Given the description of an element on the screen output the (x, y) to click on. 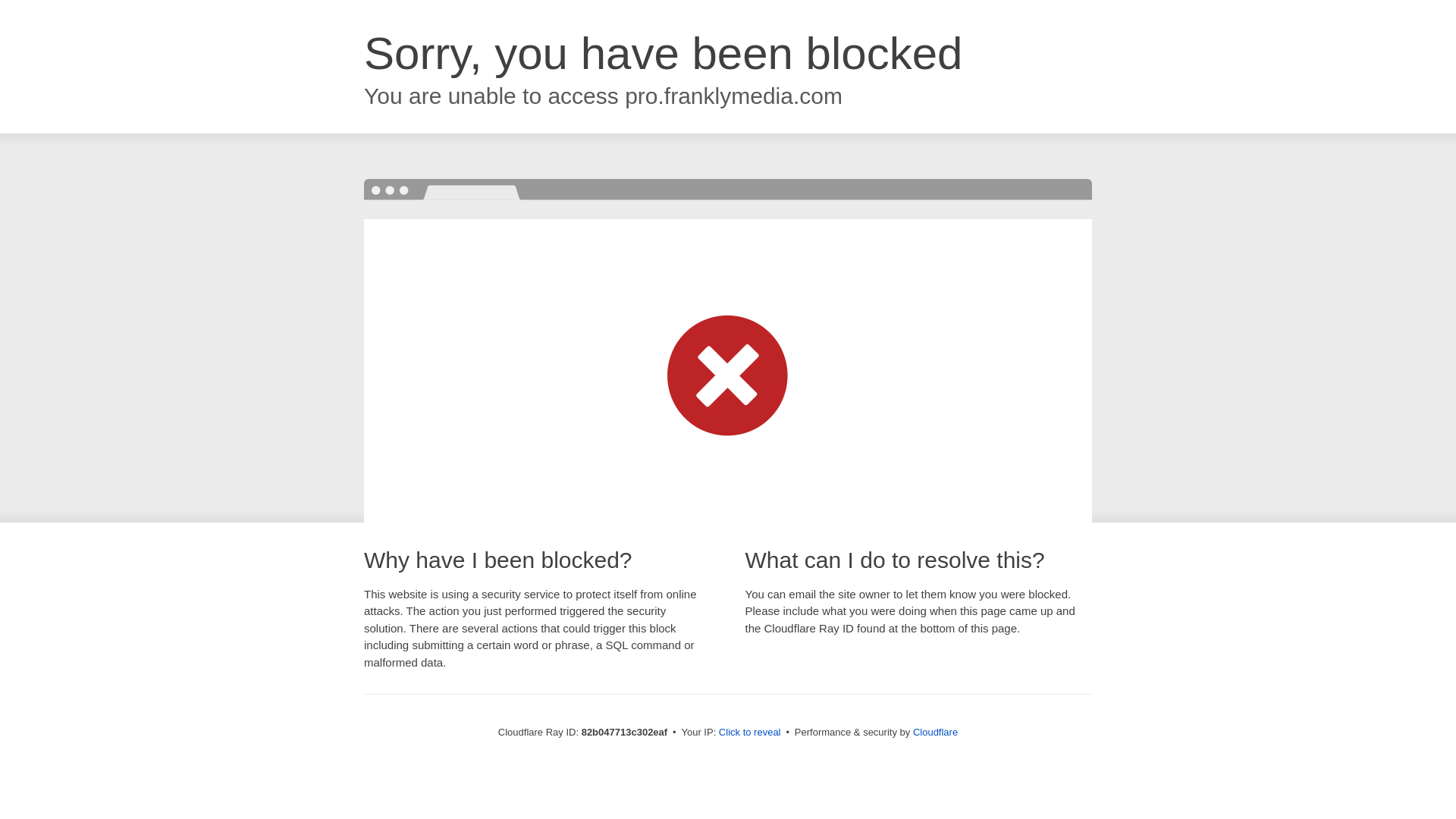
Click to reveal Element type: text (749, 732)
Cloudflare Element type: text (935, 731)
